Given the description of an element on the screen output the (x, y) to click on. 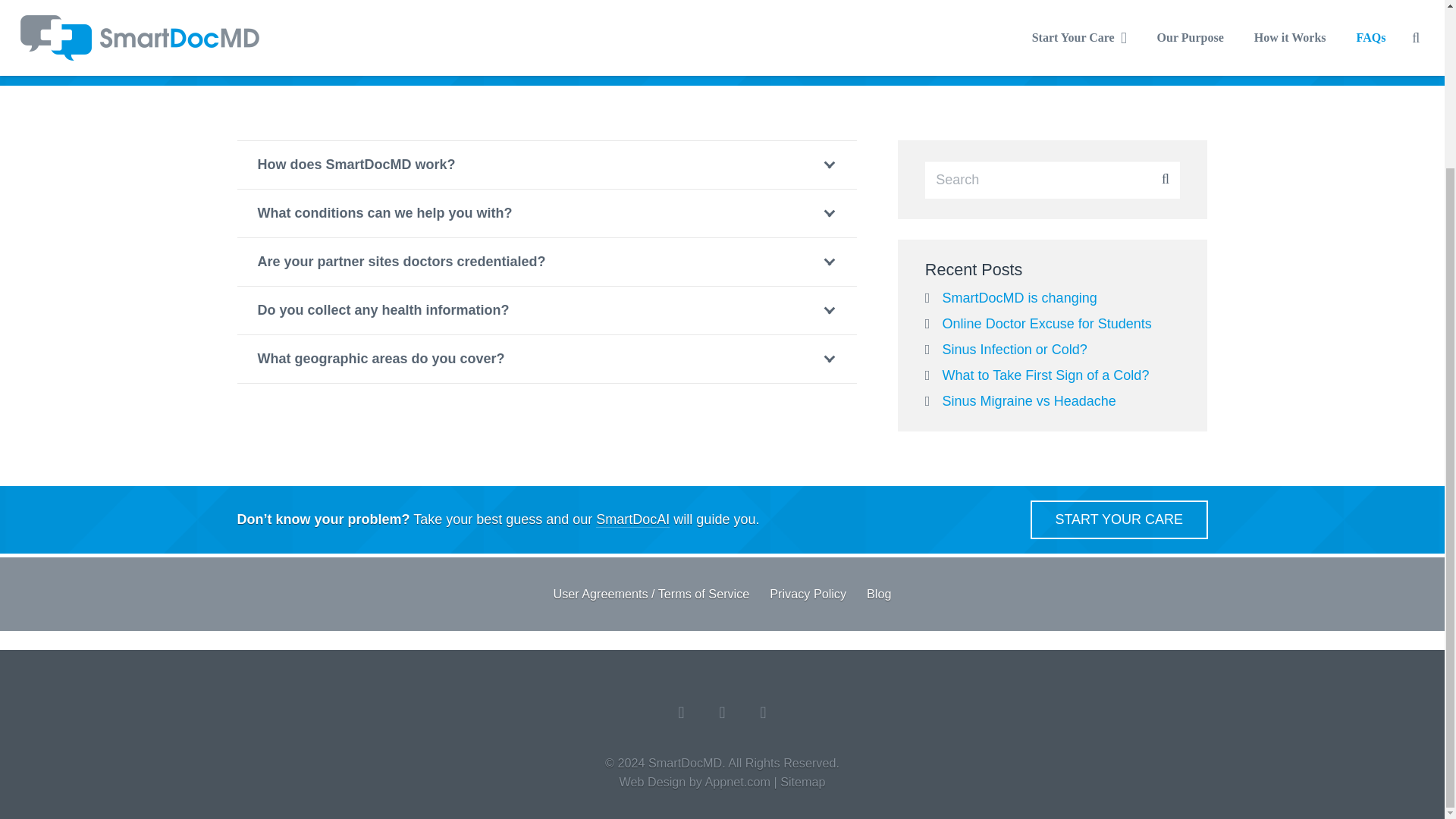
Blog (878, 593)
Twitter (763, 712)
LinkedIn (681, 712)
Start Your Care (1119, 519)
How does SmartDocMD work? (545, 164)
What to Take First Sign of a Cold? (1046, 375)
SmartDocAI (632, 51)
Privacy Policy (807, 593)
What conditions can we help you with? (545, 213)
Sinus Migraine vs Headache (1029, 400)
Sitemap (802, 781)
SmartDocAI (632, 519)
What geographic areas do you cover? (545, 358)
Are your partner sites doctors credentialed? (545, 261)
START YOUR CARE (1119, 519)
